Given the description of an element on the screen output the (x, y) to click on. 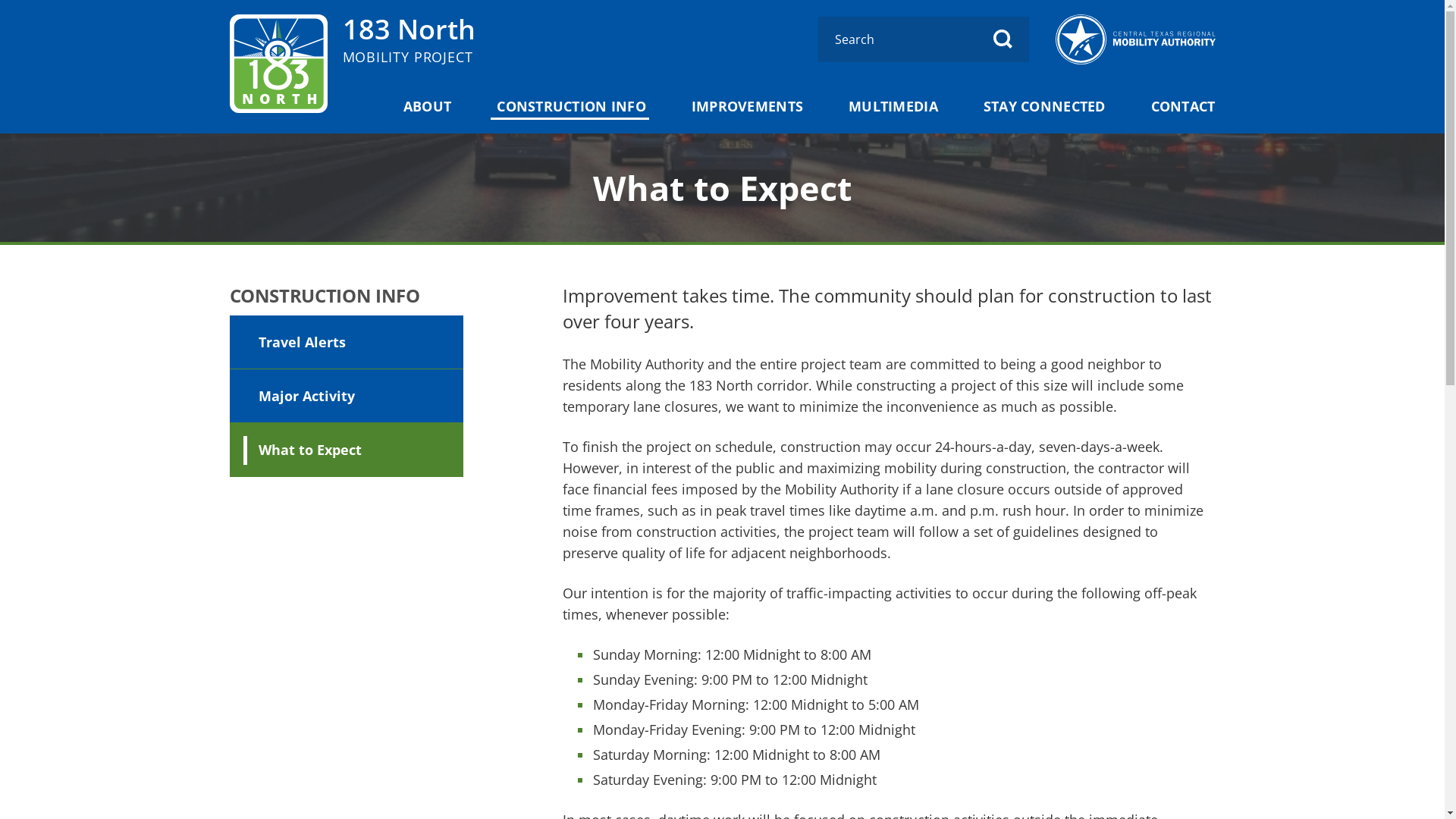
183 North
MOBILITY PROJECT Element type: text (408, 37)
CONSTRUCTION INFO Element type: text (571, 105)
STAY CONNECTED Element type: text (1044, 105)
Travel Alerts Element type: text (345, 342)
IMPROVEMENTS Element type: text (747, 105)
Skip to main content Element type: text (26, 26)
Major Activity Element type: text (345, 396)
MULTIMEDIA Element type: text (893, 105)
What to Expect Element type: text (345, 449)
CONTACT Element type: text (1183, 105)
Go to homepage Element type: hover (277, 63)
ABOUT Element type: text (427, 105)
